Given the description of an element on the screen output the (x, y) to click on. 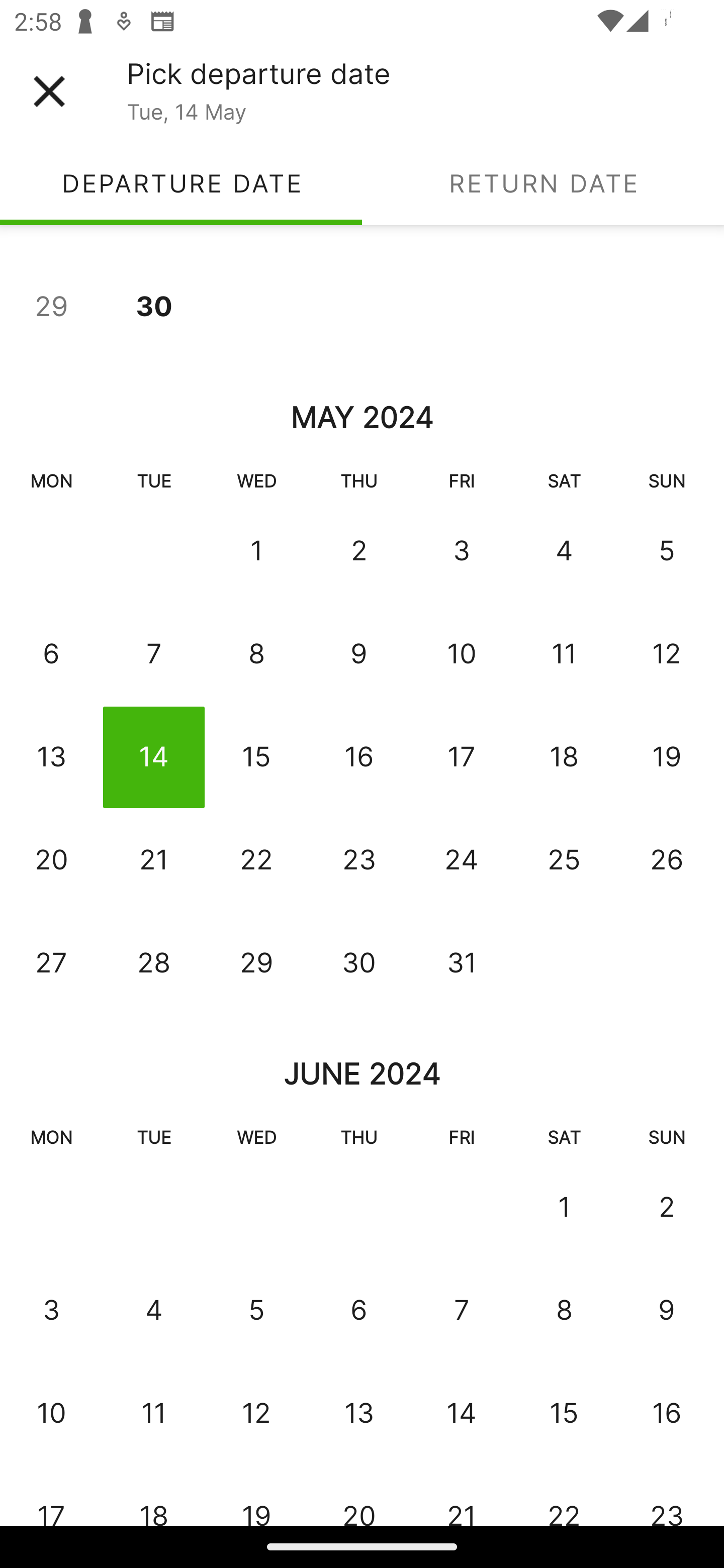
Return Date RETURN DATE (543, 183)
